Given the description of an element on the screen output the (x, y) to click on. 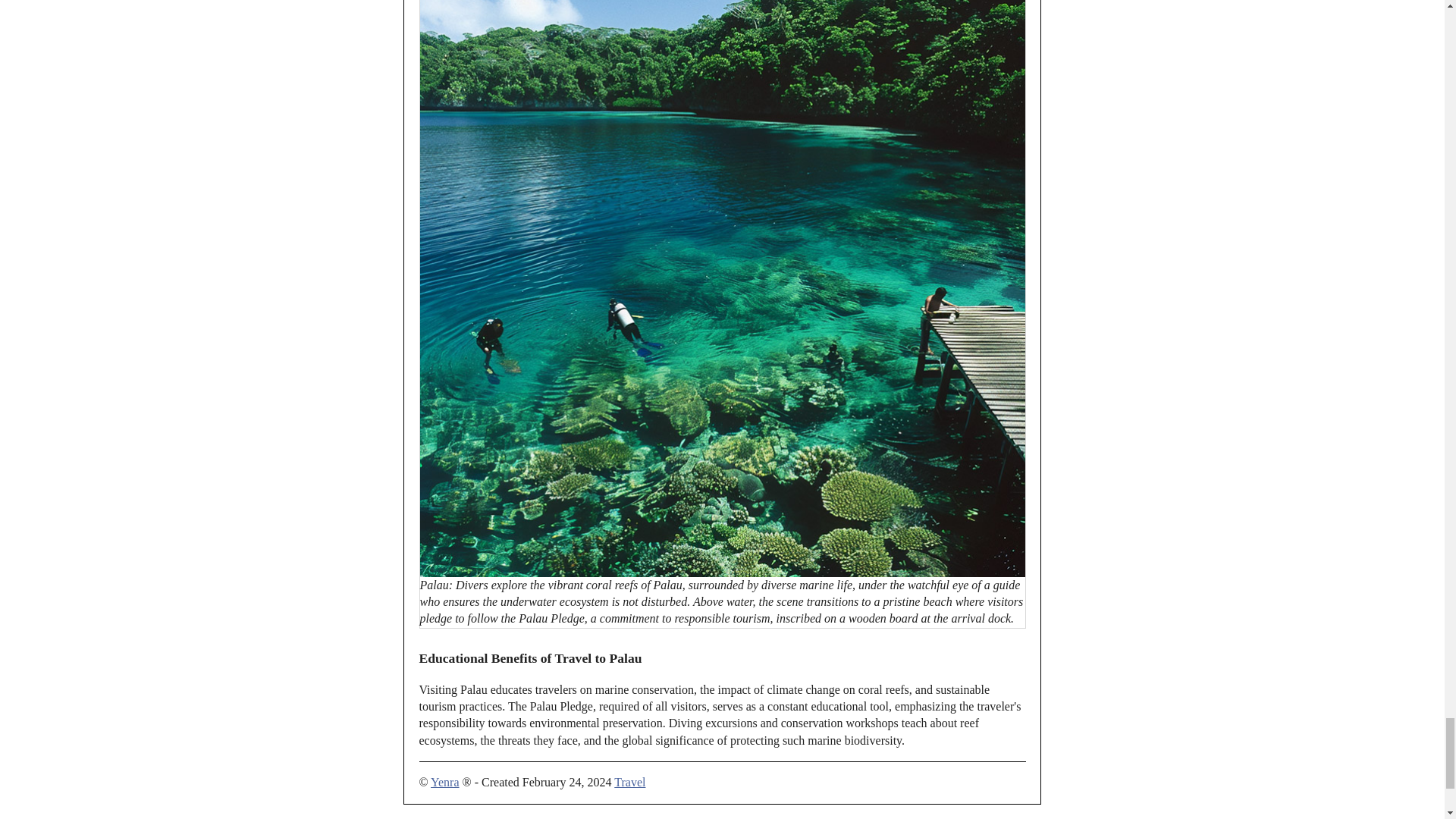
Yenra (444, 781)
Travel (629, 781)
